Given the description of an element on the screen output the (x, y) to click on. 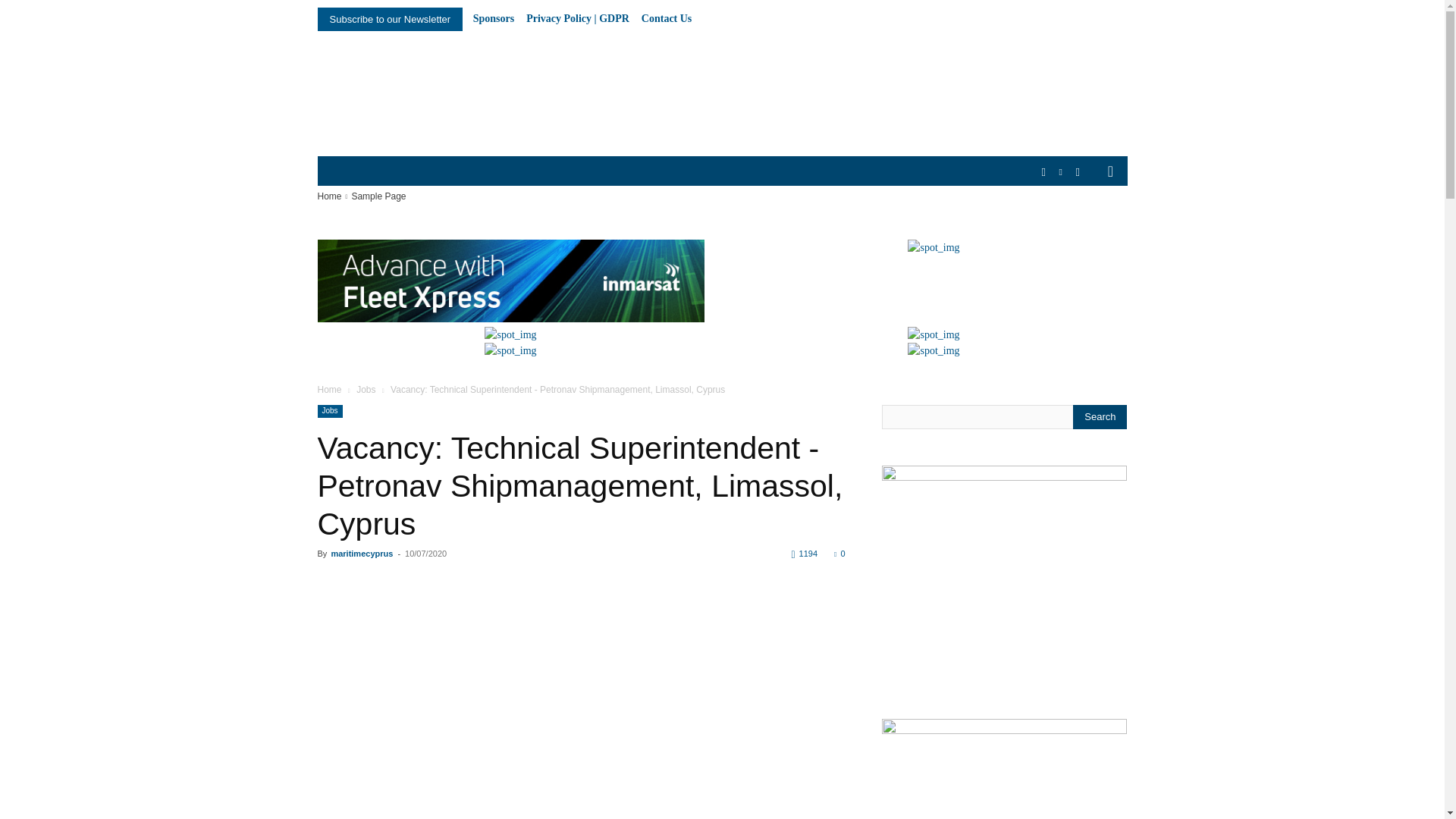
Facebook (1043, 171)
Linkedin (1061, 171)
Subscribe to our Newsletter (390, 19)
Search (1099, 416)
Twitter (1077, 171)
Subscribe to our Newsletter (390, 19)
Contact Us (667, 18)
Sponsors (493, 18)
